Given the description of an element on the screen output the (x, y) to click on. 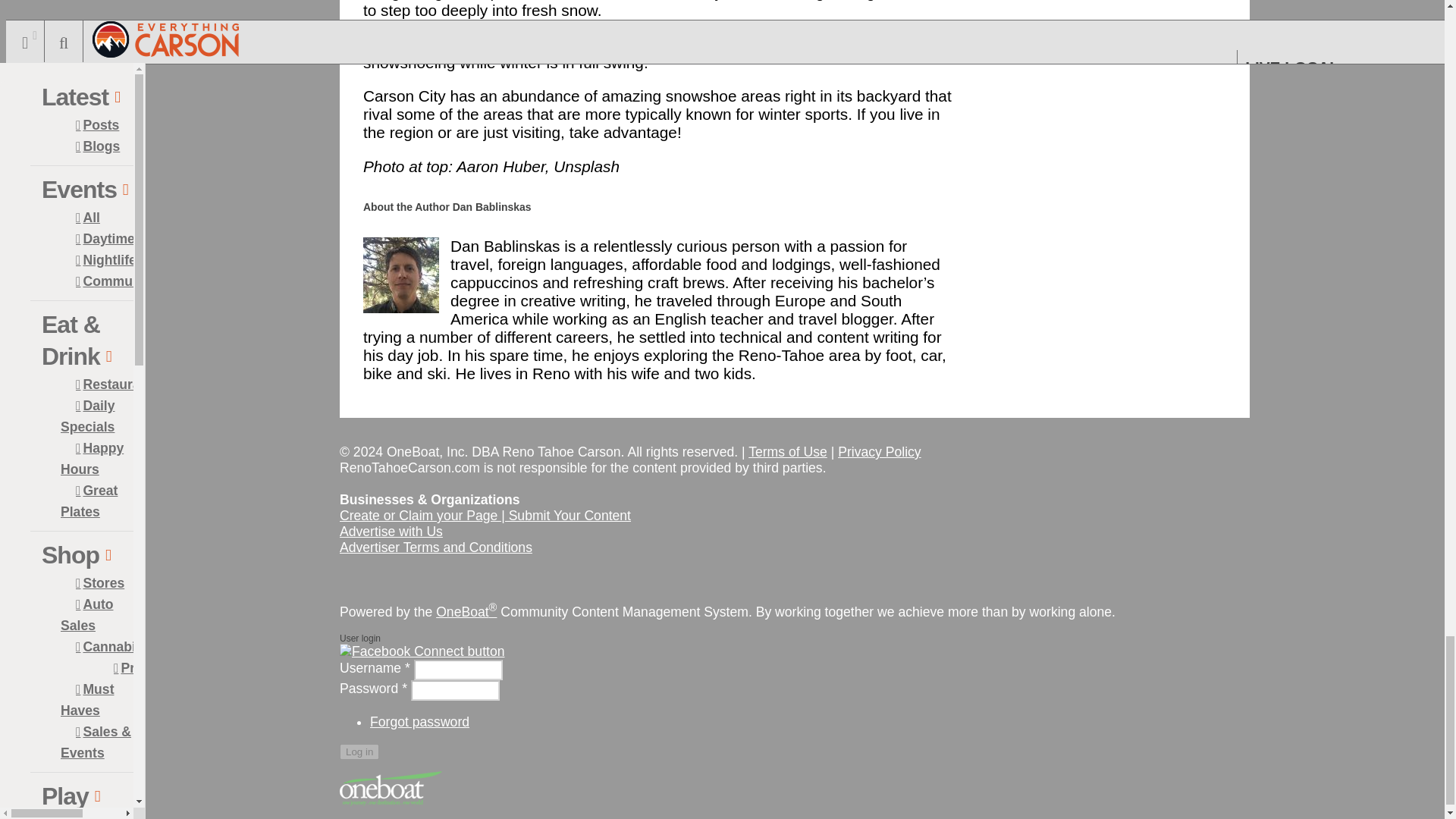
OneBoat (465, 611)
Reset a forgotten password. (418, 721)
